Given the description of an element on the screen output the (x, y) to click on. 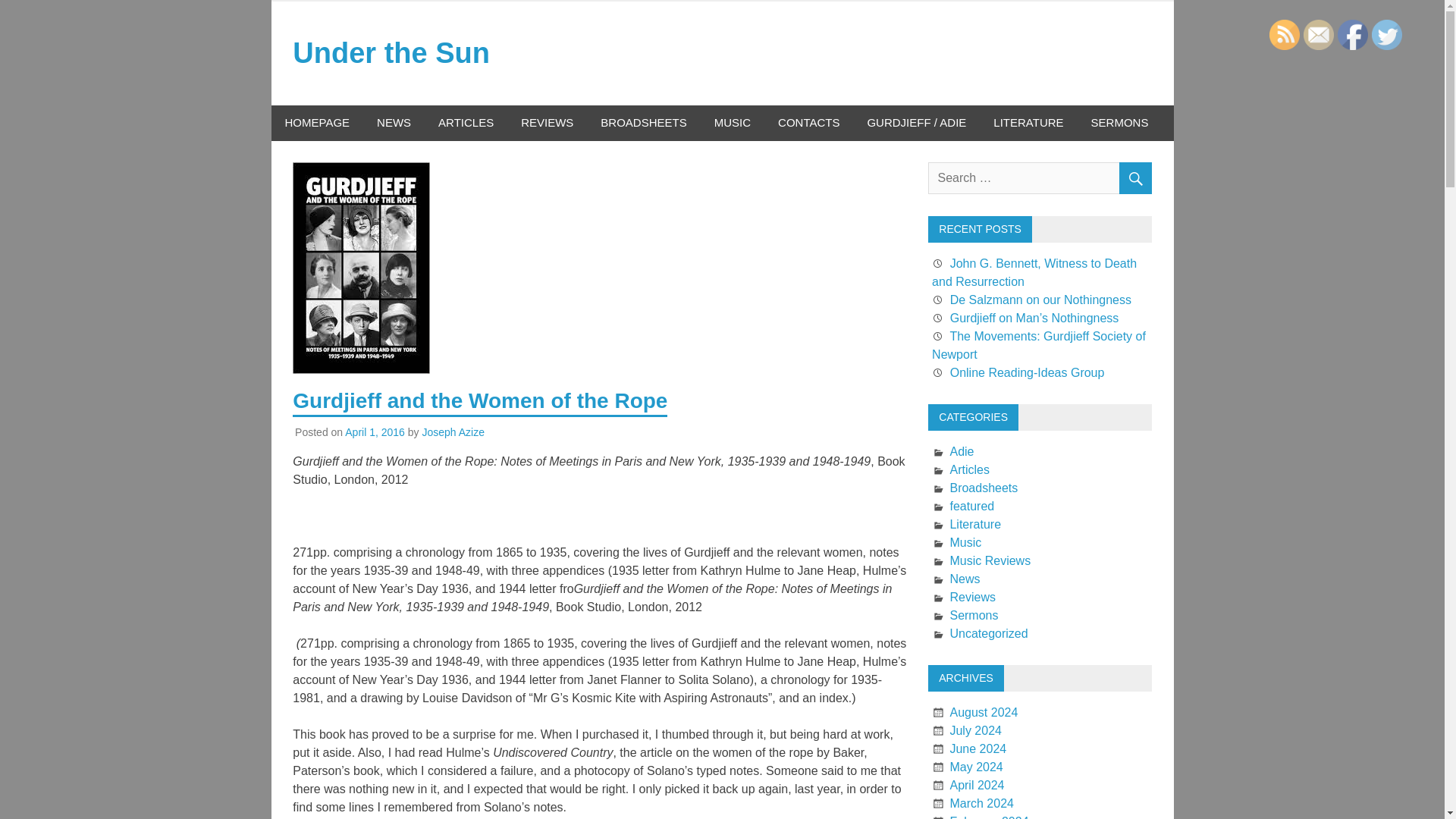
Under the Sun (390, 58)
Online Reading-Ideas Group (1027, 372)
featured (971, 505)
Music (965, 542)
News (964, 578)
HOMEPAGE (317, 122)
SERMONS (1119, 122)
Adie (961, 451)
Twitter (1386, 34)
